Given the description of an element on the screen output the (x, y) to click on. 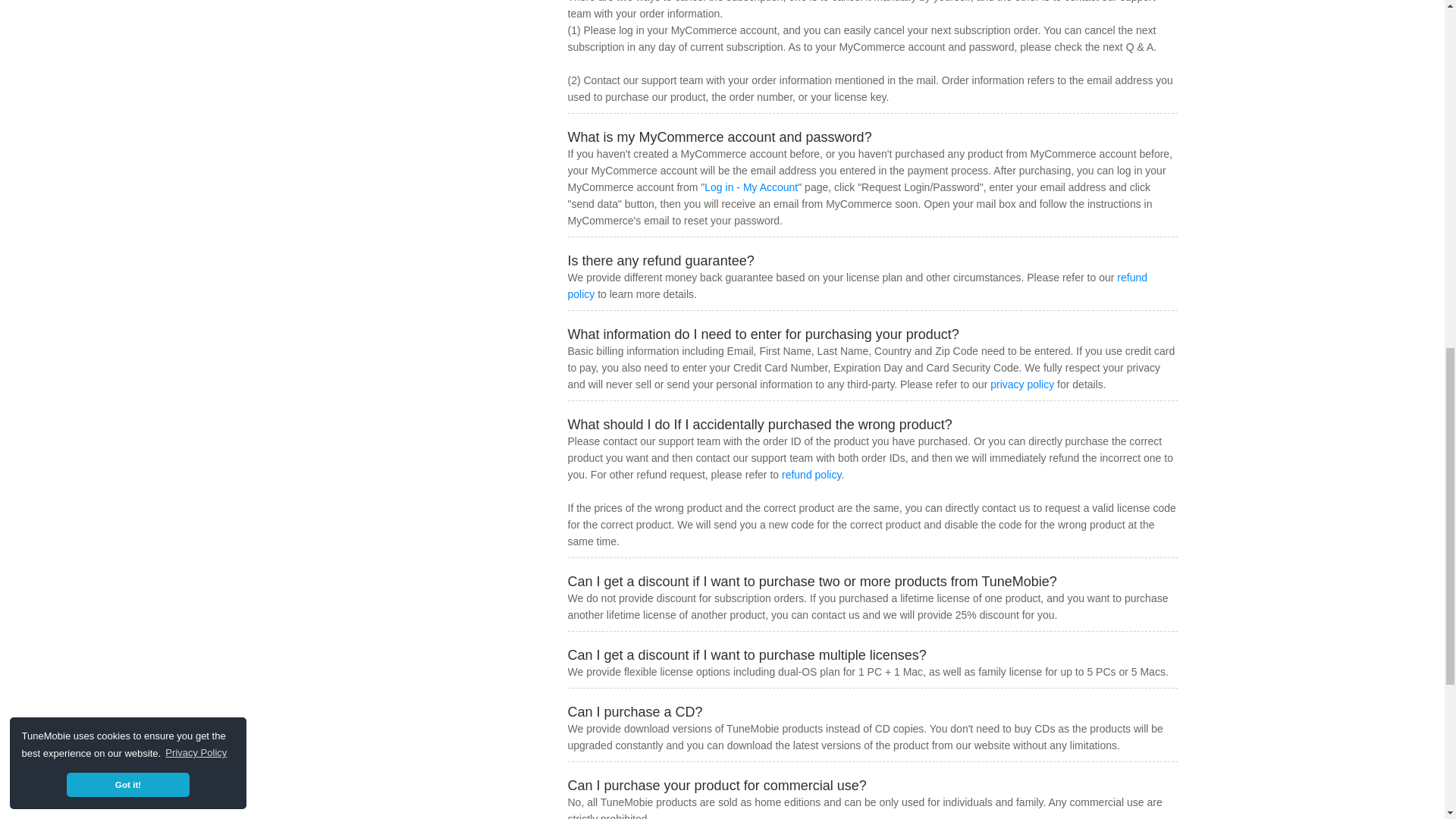
Log in - My Account (750, 186)
refund policy (857, 285)
privacy policy (1022, 384)
refund policy (811, 474)
